Given the description of an element on the screen output the (x, y) to click on. 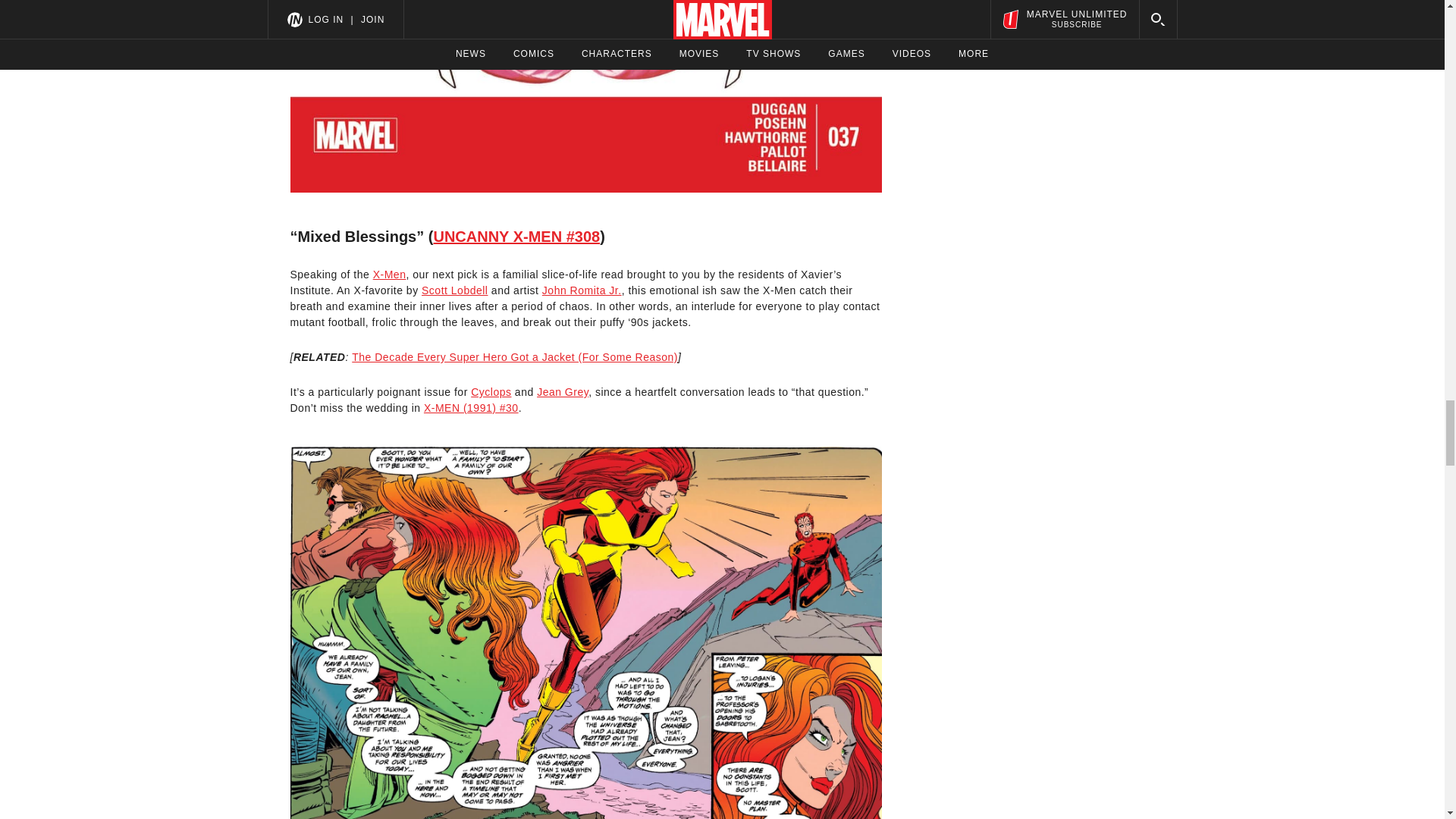
John Romita Jr. (581, 290)
Scott Lobdell (454, 290)
X-Men (389, 274)
